Given the description of an element on the screen output the (x, y) to click on. 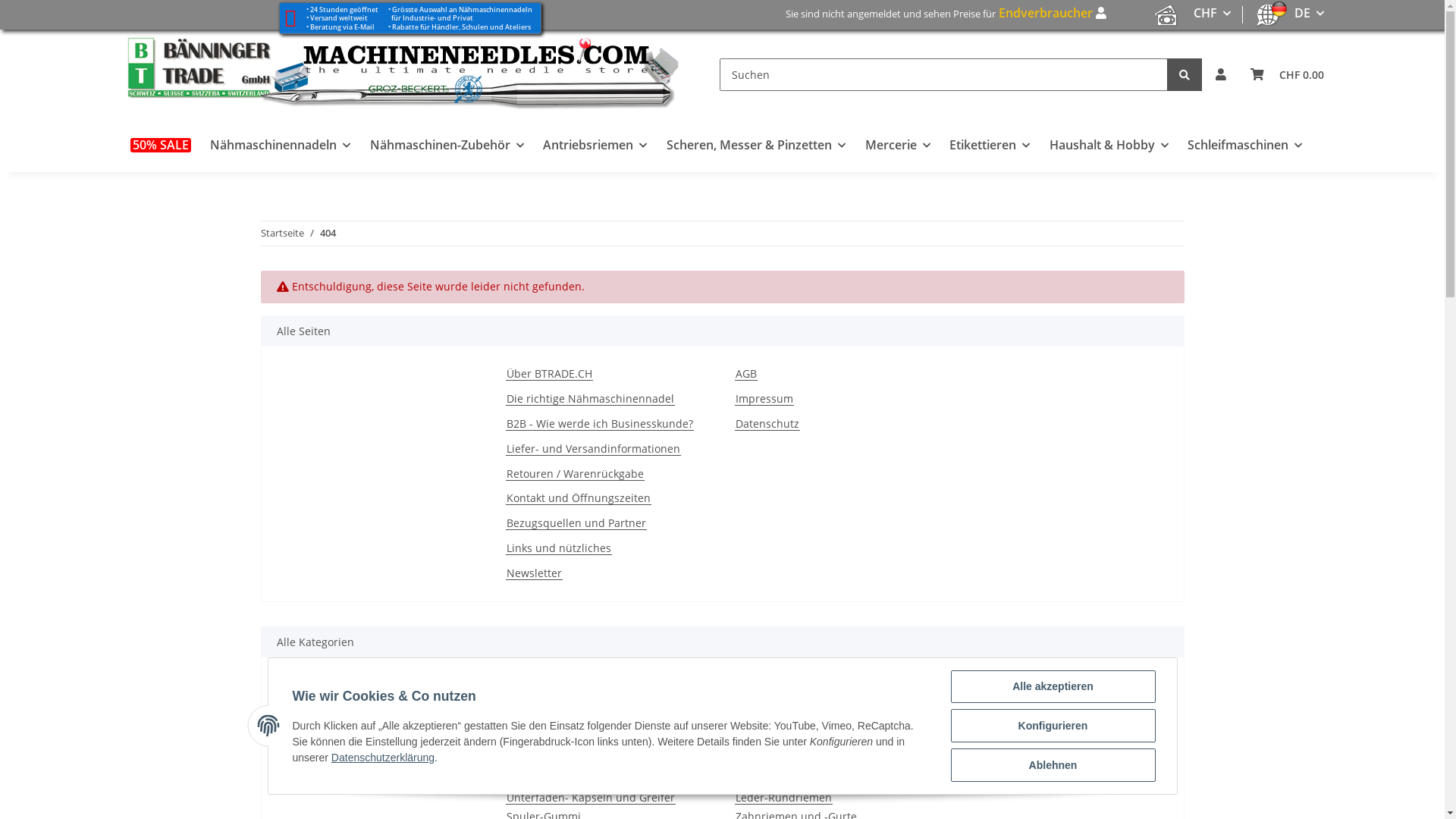
Messer & Rollschneider Element type: text (1024, 722)
Schleifmaschinen Element type: text (1245, 144)
Konfigurieren Element type: text (1052, 725)
Alle akzeptieren Element type: text (1052, 686)
Antriebsriemen Element type: text (774, 684)
Pinzetten Element type: text (987, 778)
Scheren Element type: text (984, 703)
Mercerie Element type: text (897, 144)
SCHMETZ Haushalt-Nadeln Element type: text (345, 703)
Industrie- und Gewerbenadeln Element type: text (355, 722)
Schmierstoffe Element type: text (541, 722)
Keilriemen endlos gelocht (DIN 2216) Element type: text (828, 722)
Antriebsriemen Element type: text (595, 144)
Unterfaden- Kapseln und Greifer Element type: text (589, 797)
TPU-Rundriemen endlos (Polycord) Element type: text (823, 778)
Keilriemen (DIN 2215 / ISO 4184) Element type: text (817, 703)
B2B - Wie werde ich Businesskunde? Element type: text (599, 423)
Datenschutz Element type: text (766, 423)
CHF Element type: text (1211, 13)
Lineale & Schneid-Unterlagen Element type: text (1039, 760)
Info- und POS-Artikel Element type: text (330, 760)
DE Element type: text (1308, 13)
AGB Element type: text (745, 373)
Leder-Rundriemen Element type: text (782, 797)
BTRADE.CH Element type: hover (405, 74)
Scheren, Messer & Pinzetten Element type: text (1038, 684)
Startseite Element type: text (282, 233)
404 Element type: text (327, 233)
Liefer- und Versandinformationen Element type: text (592, 448)
Bezugsquellen und Partner Element type: text (575, 523)
50% SALE Element type: text (160, 144)
CHF 0.00 Element type: text (1286, 74)
Gummi-Rundriemen Element type: text (787, 760)
Ablehnen Element type: text (1052, 764)
Scheren, Messer & Pinzetten Element type: text (755, 144)
Etikettieren Element type: text (989, 144)
Impressum Element type: text (763, 398)
Haushalt & Hobby Element type: text (1108, 144)
Unterfaden-Spulen Element type: text (554, 778)
FATEX Kautschuk-Rundriemen elastisch Element type: text (835, 741)
Newsletter Element type: text (533, 573)
